Given the description of an element on the screen output the (x, y) to click on. 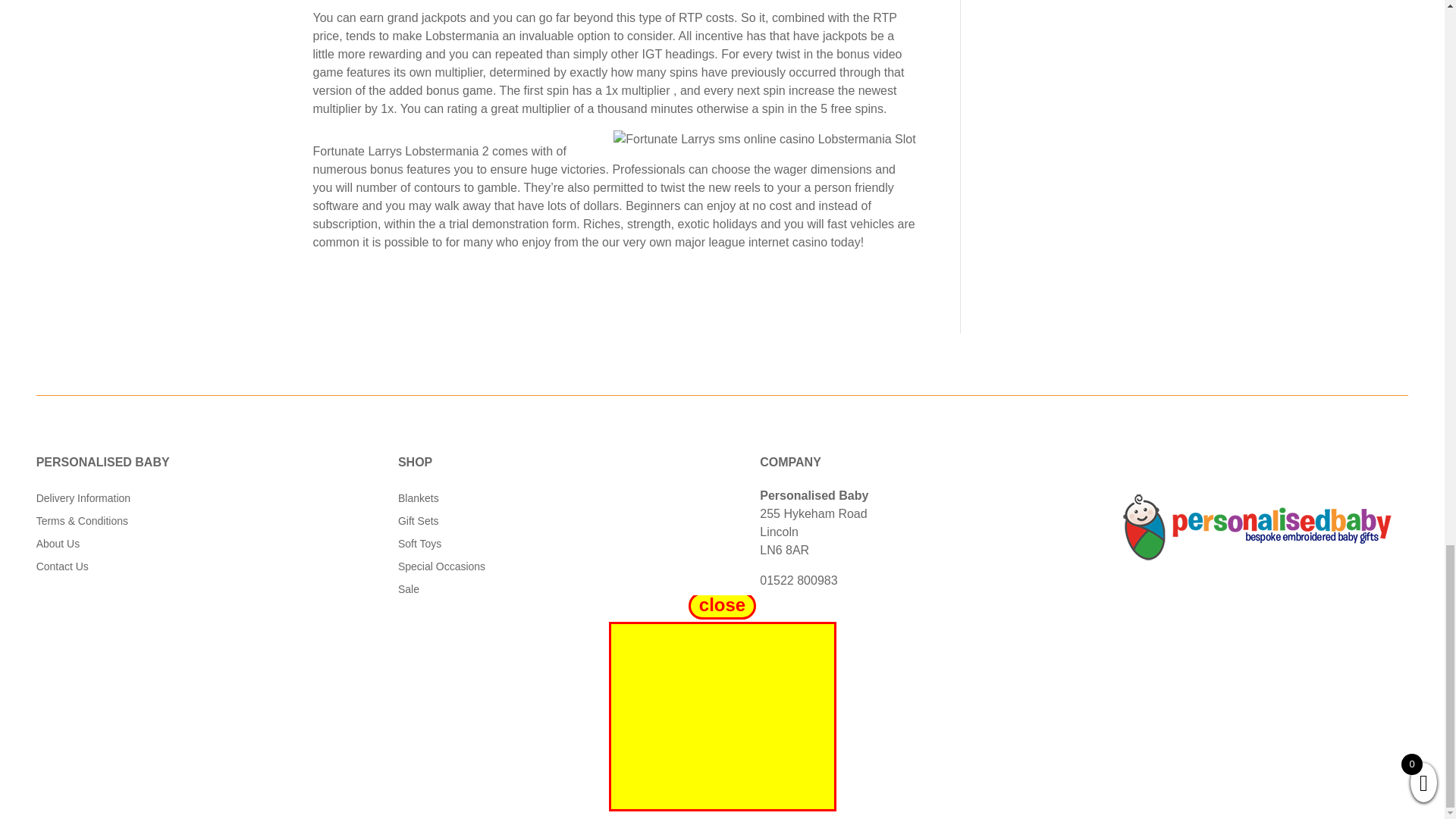
Follow on Pinterest (737, 691)
Follow on Facebook (675, 691)
Blankets (418, 501)
Delivery Information (83, 501)
About Us (58, 546)
Gift Sets (418, 523)
Follow on Twitter (706, 691)
Contact Us (62, 569)
Soft Toys (419, 546)
personalised-baby-blankets (1258, 527)
